Given the description of an element on the screen output the (x, y) to click on. 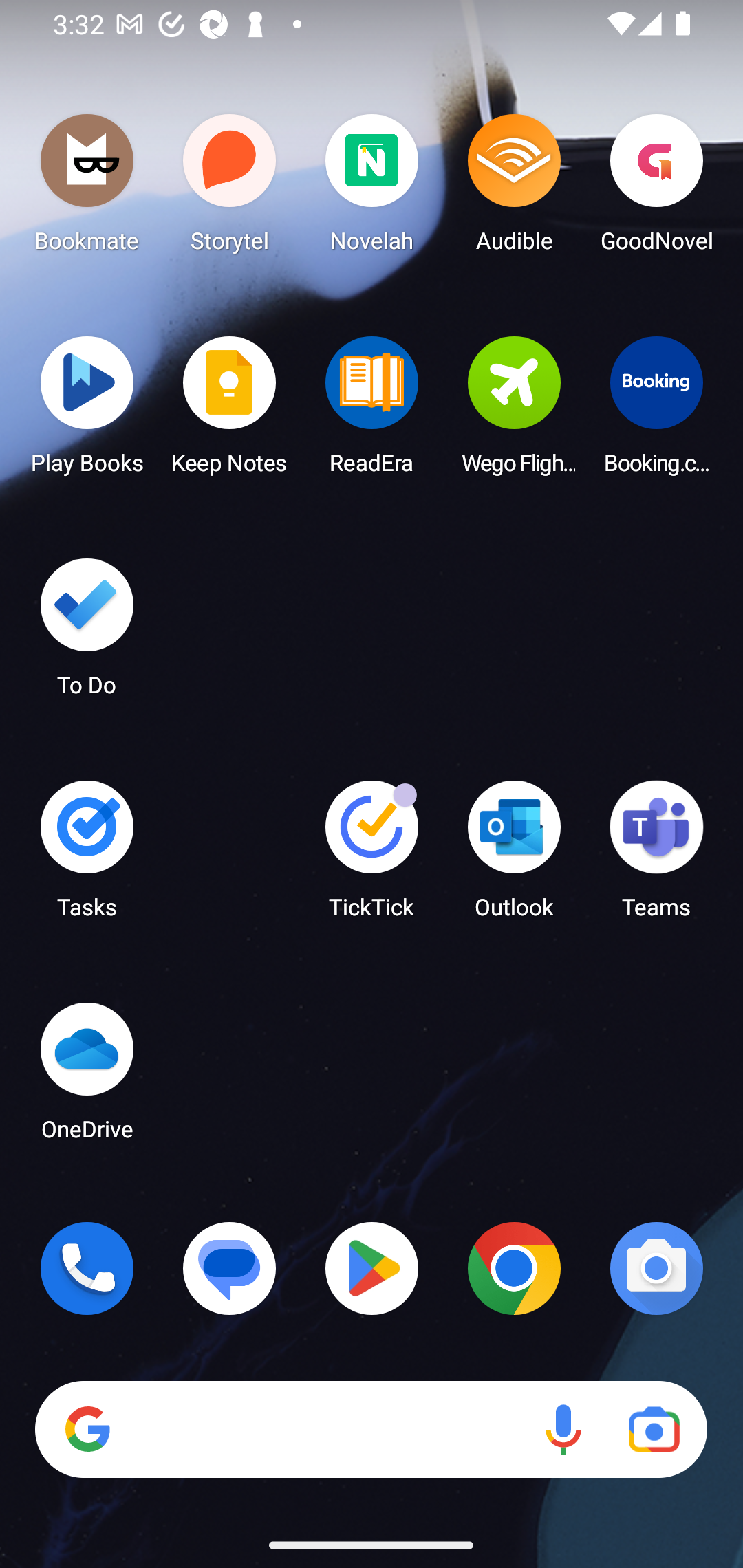
Bookmate (86, 188)
Storytel (229, 188)
Novelah (371, 188)
Audible (513, 188)
GoodNovel (656, 188)
Play Books (86, 410)
Keep Notes (229, 410)
ReadEra (371, 410)
Wego Flights & Hotels (513, 410)
Booking.com (656, 410)
To Do (86, 633)
Tasks (86, 854)
TickTick TickTick has 3 notifications (371, 854)
Outlook (513, 854)
Teams (656, 854)
OneDrive (86, 1076)
Phone (86, 1268)
Messages (229, 1268)
Play Store (371, 1268)
Chrome (513, 1268)
Camera (656, 1268)
Search Voice search Google Lens (370, 1429)
Voice search (562, 1429)
Google Lens (653, 1429)
